Given the description of an element on the screen output the (x, y) to click on. 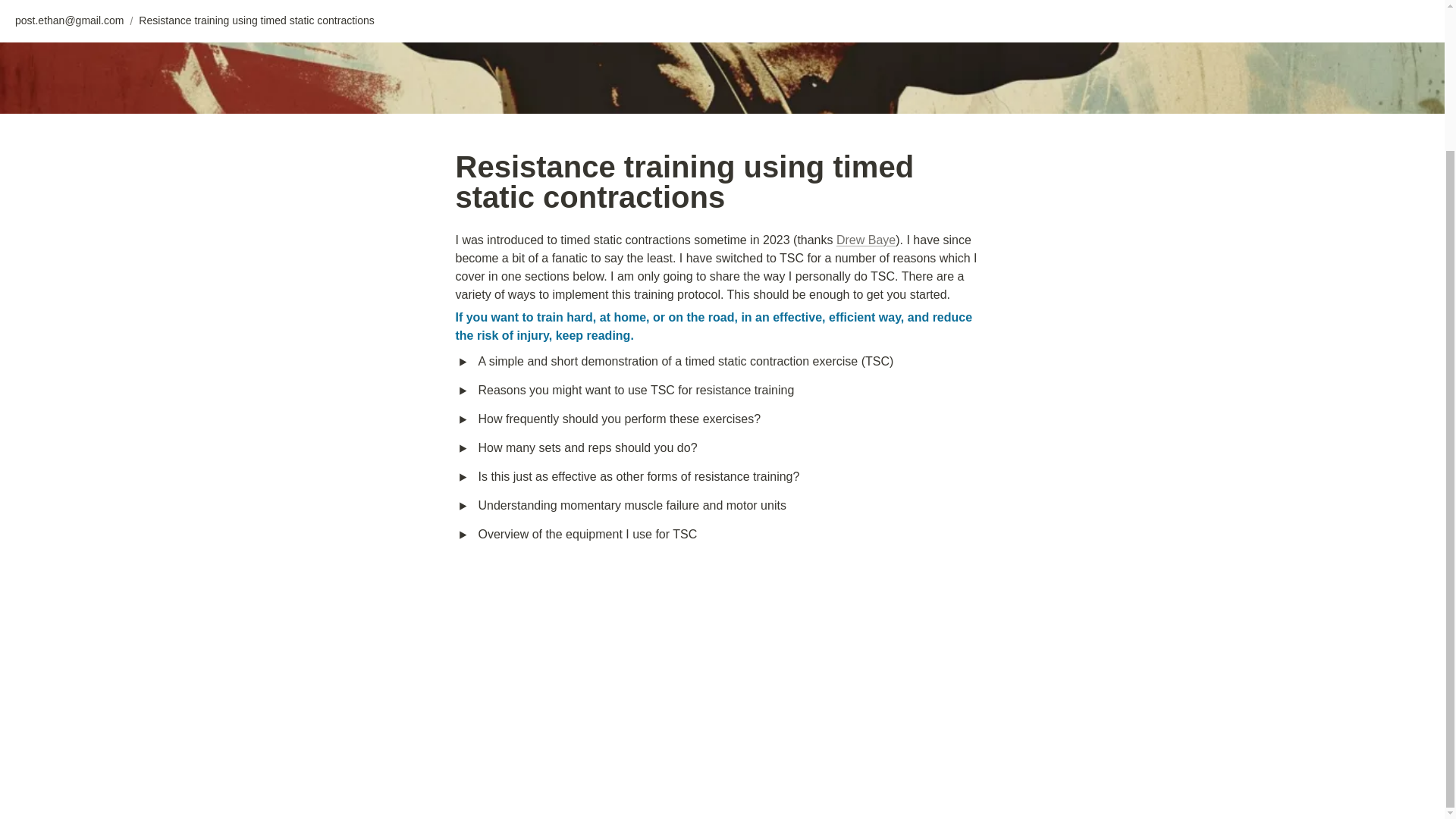
Drew Baye (865, 239)
